Given the description of an element on the screen output the (x, y) to click on. 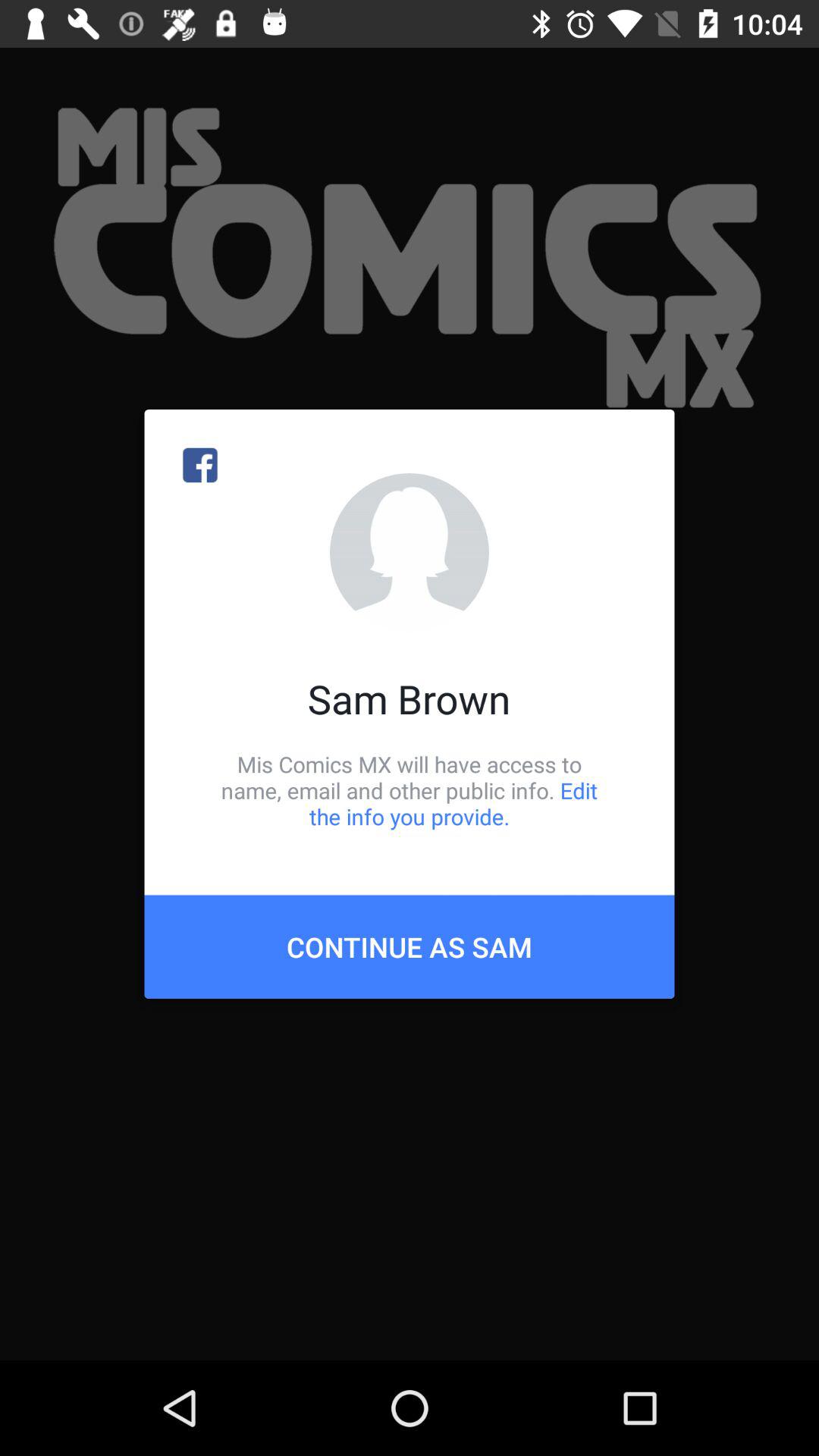
turn on the icon above continue as sam item (409, 790)
